Given the description of an element on the screen output the (x, y) to click on. 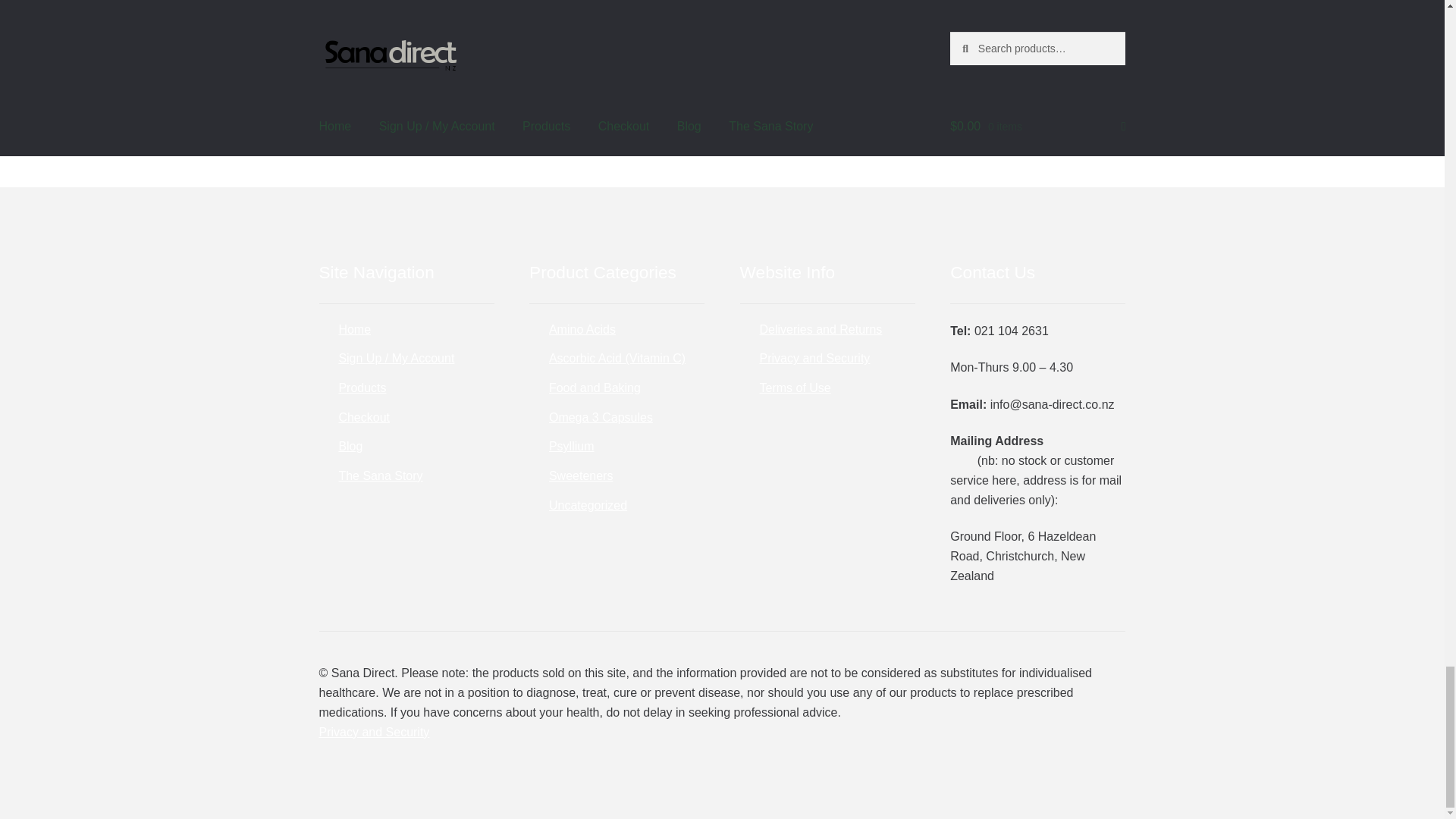
yes (354, 9)
Post Comment (410, 54)
